Given the description of an element on the screen output the (x, y) to click on. 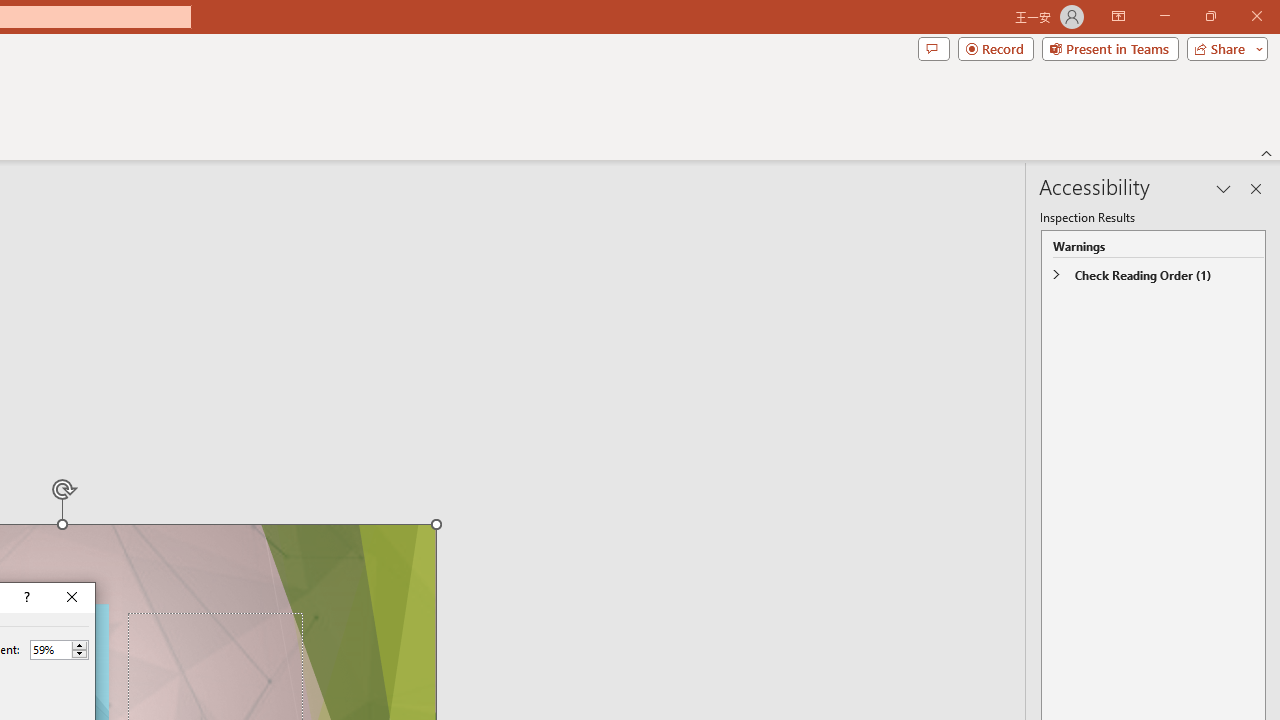
Percent (50, 649)
Close pane (1256, 188)
Percent (59, 650)
Context help (25, 597)
Less (79, 654)
More (79, 645)
